Given the description of an element on the screen output the (x, y) to click on. 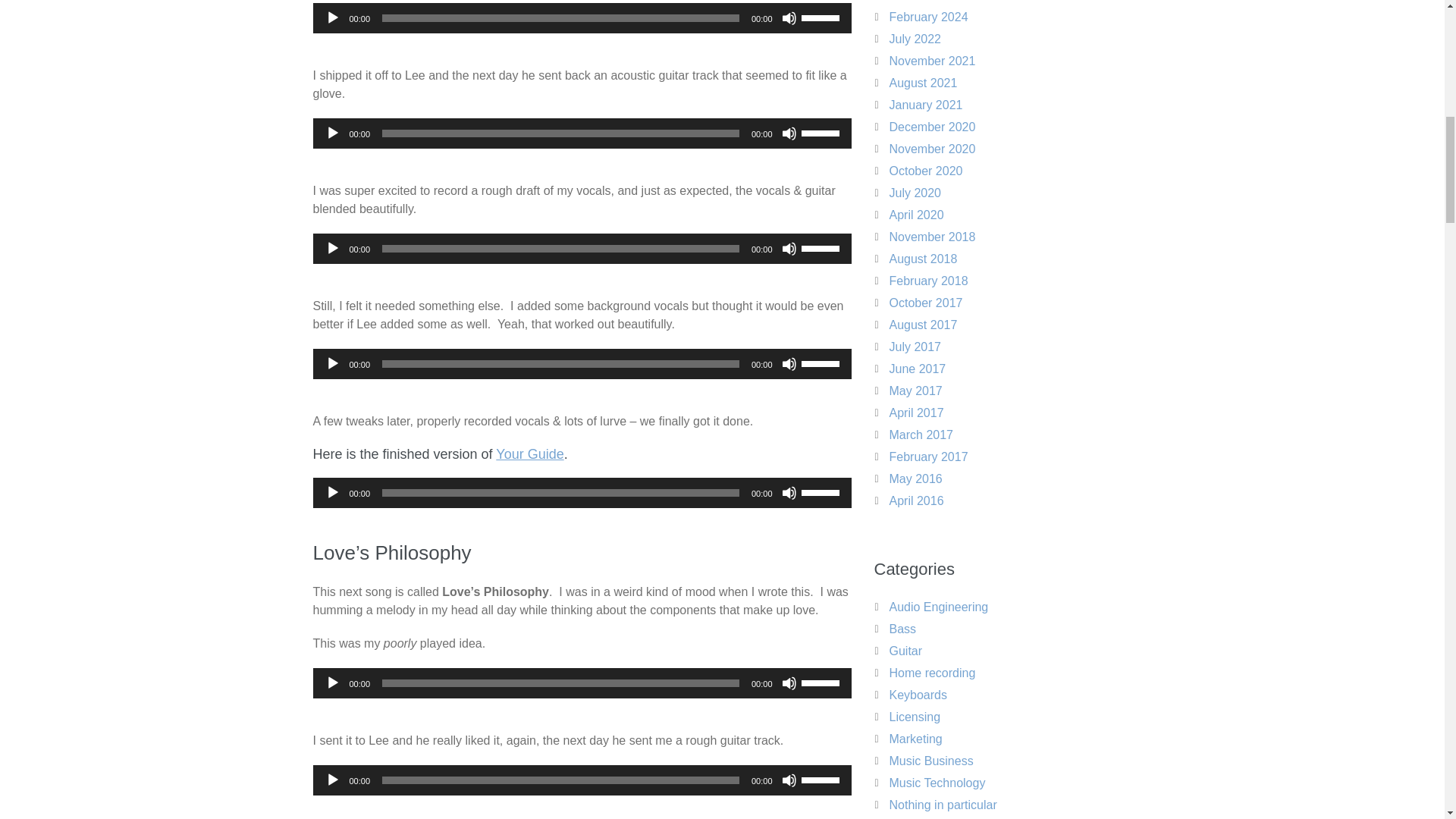
Play (331, 683)
Mute (788, 363)
Mute (788, 17)
Play (331, 780)
Play (331, 492)
Mute (788, 492)
Play (331, 363)
Play (331, 133)
Mute (788, 683)
Play (331, 17)
